Given the description of an element on the screen output the (x, y) to click on. 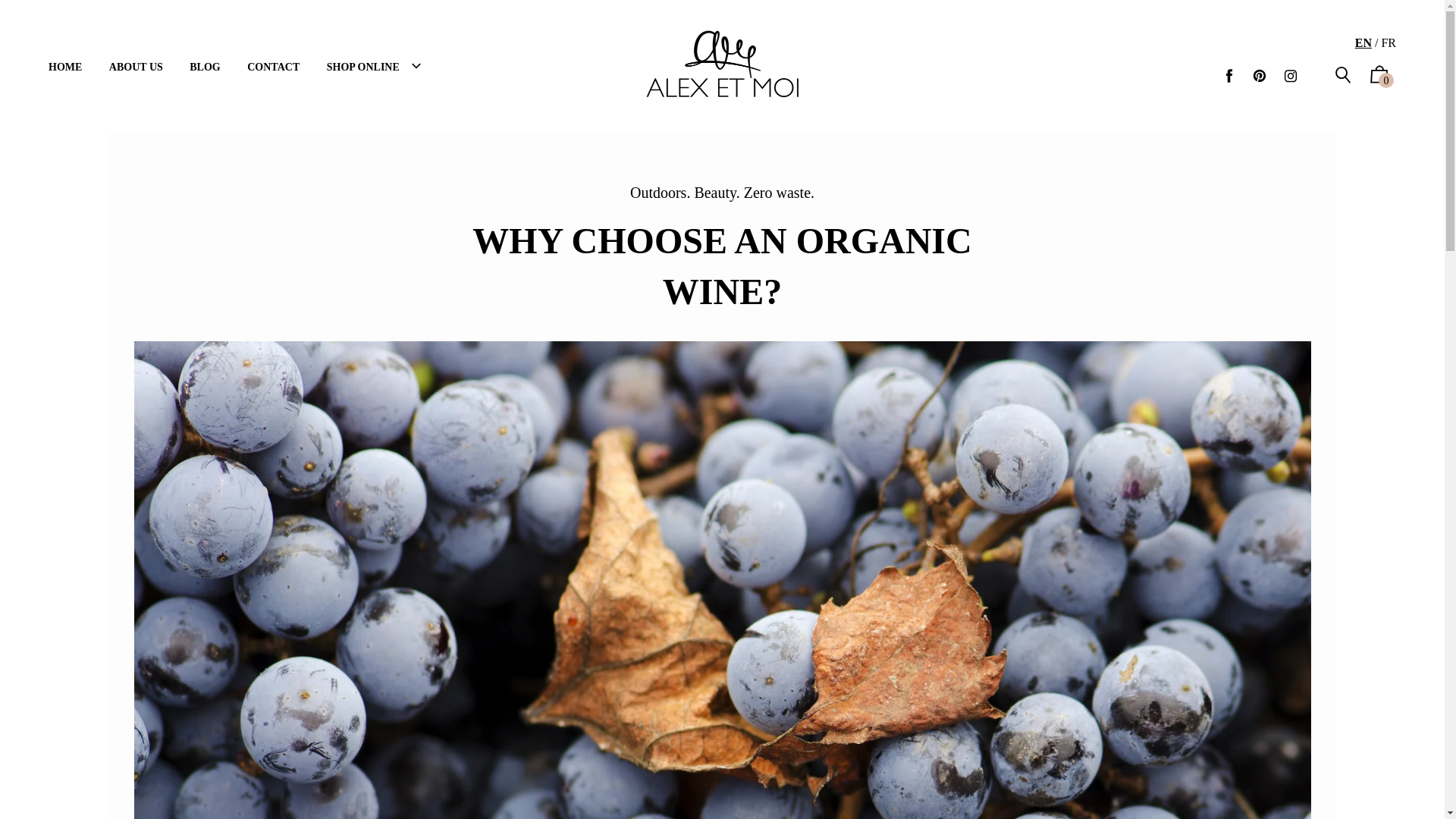
FR Element type: text (1388, 42)
Alex and I on Instagram Element type: hover (1290, 75)
0 Element type: text (1379, 78)
BLOG Element type: text (204, 67)
Outdoors. Beauty. Zero waste. Element type: text (722, 191)
HOME Element type: text (65, 67)
CONTACT Element type: text (273, 67)
Alex and me on Pinterest Element type: hover (1259, 75)
EN Element type: text (1363, 42)
ABOUT US Element type: text (136, 67)
Alex and me on Facebook Element type: hover (1228, 75)
SHOP ONLINE Element type: text (375, 65)
